Given the description of an element on the screen output the (x, y) to click on. 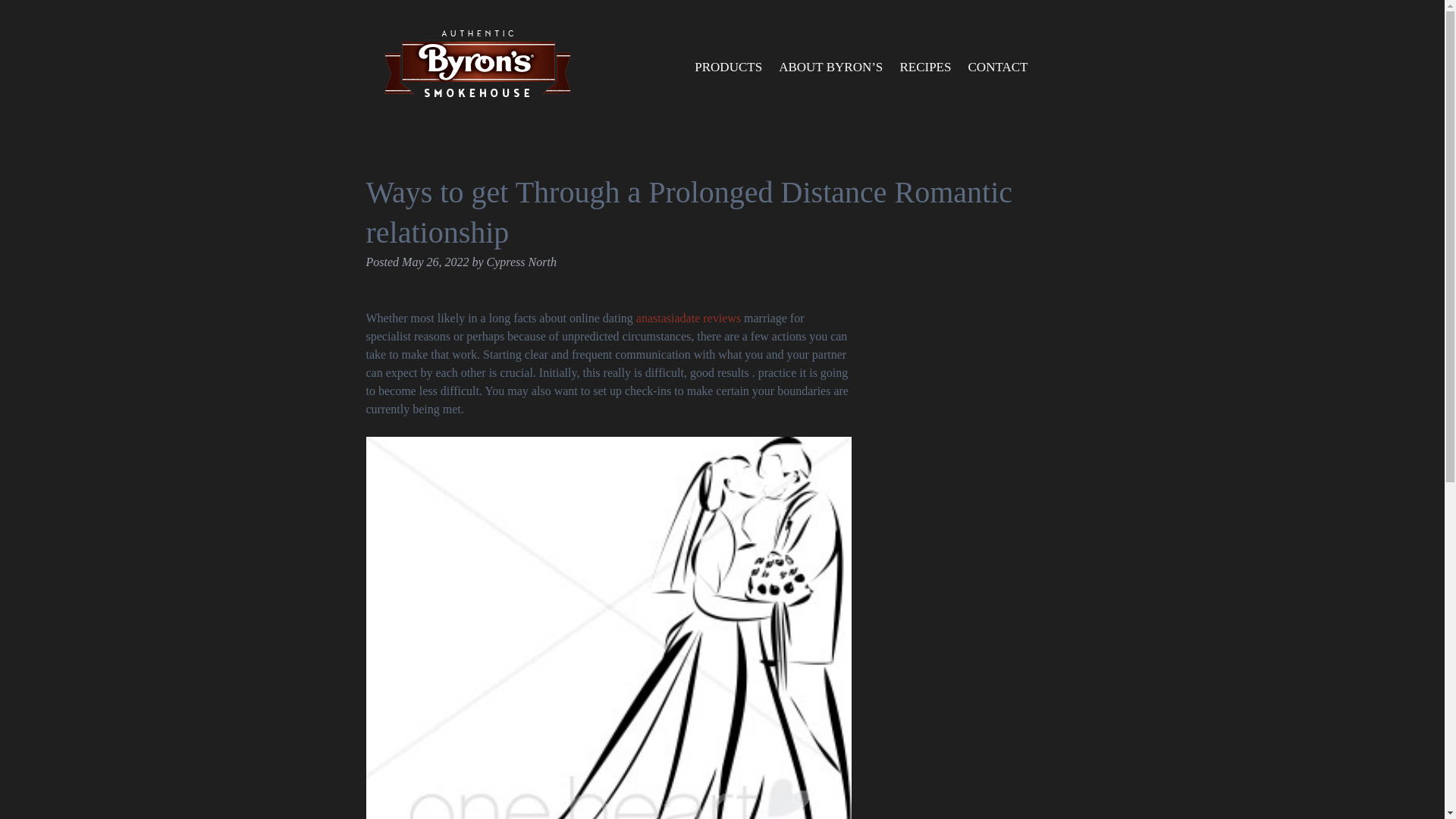
PRODUCTS (727, 67)
RECIPES (925, 67)
CONTACT (997, 67)
anastasiadate reviews (688, 318)
